Given the description of an element on the screen output the (x, y) to click on. 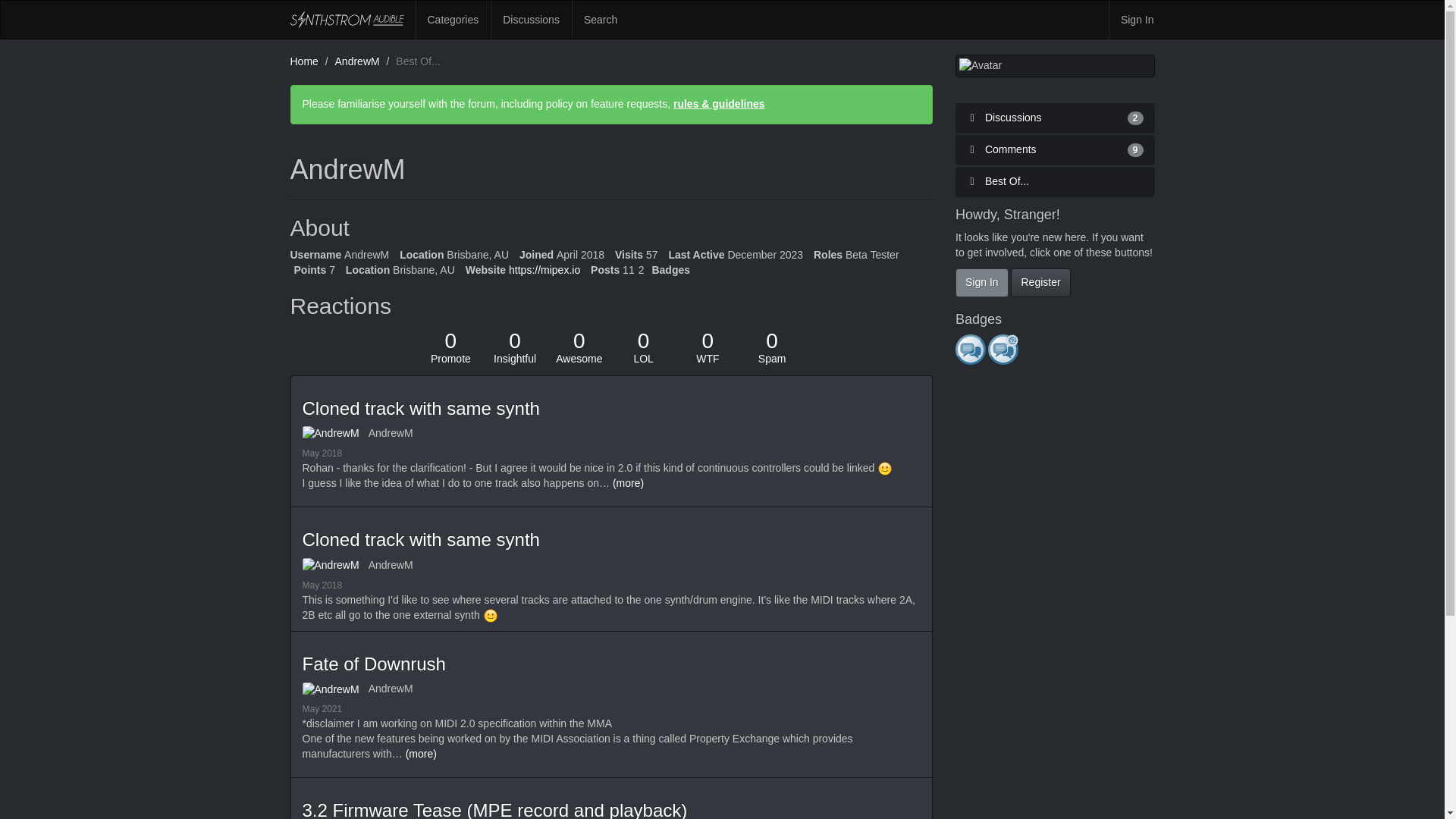
Fate of Downrush (643, 347)
Categories (373, 663)
AndrewM (453, 19)
AndrewM (579, 347)
Synthstrom Audible (334, 433)
This post is funny. (390, 432)
This post is spam. (346, 19)
AndrewM (643, 347)
